Given the description of an element on the screen output the (x, y) to click on. 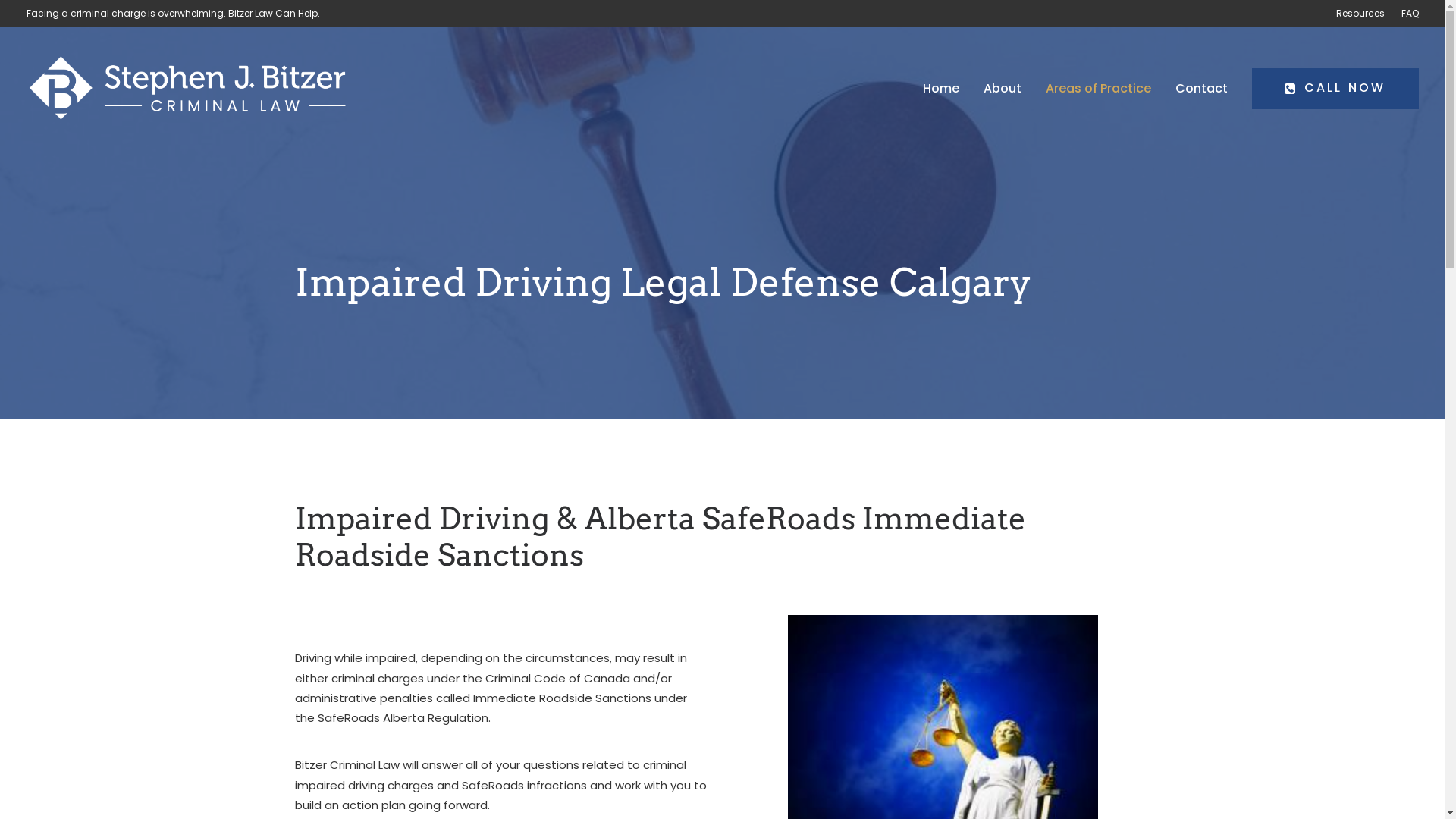
Resources Element type: text (1363, 13)
CALL NOW Element type: text (1329, 88)
Contact Element type: text (1201, 88)
Home Element type: text (945, 88)
FAQ Element type: text (1405, 13)
About Element type: text (1002, 88)
Areas of Practice Element type: text (1098, 88)
